Given the description of an element on the screen output the (x, y) to click on. 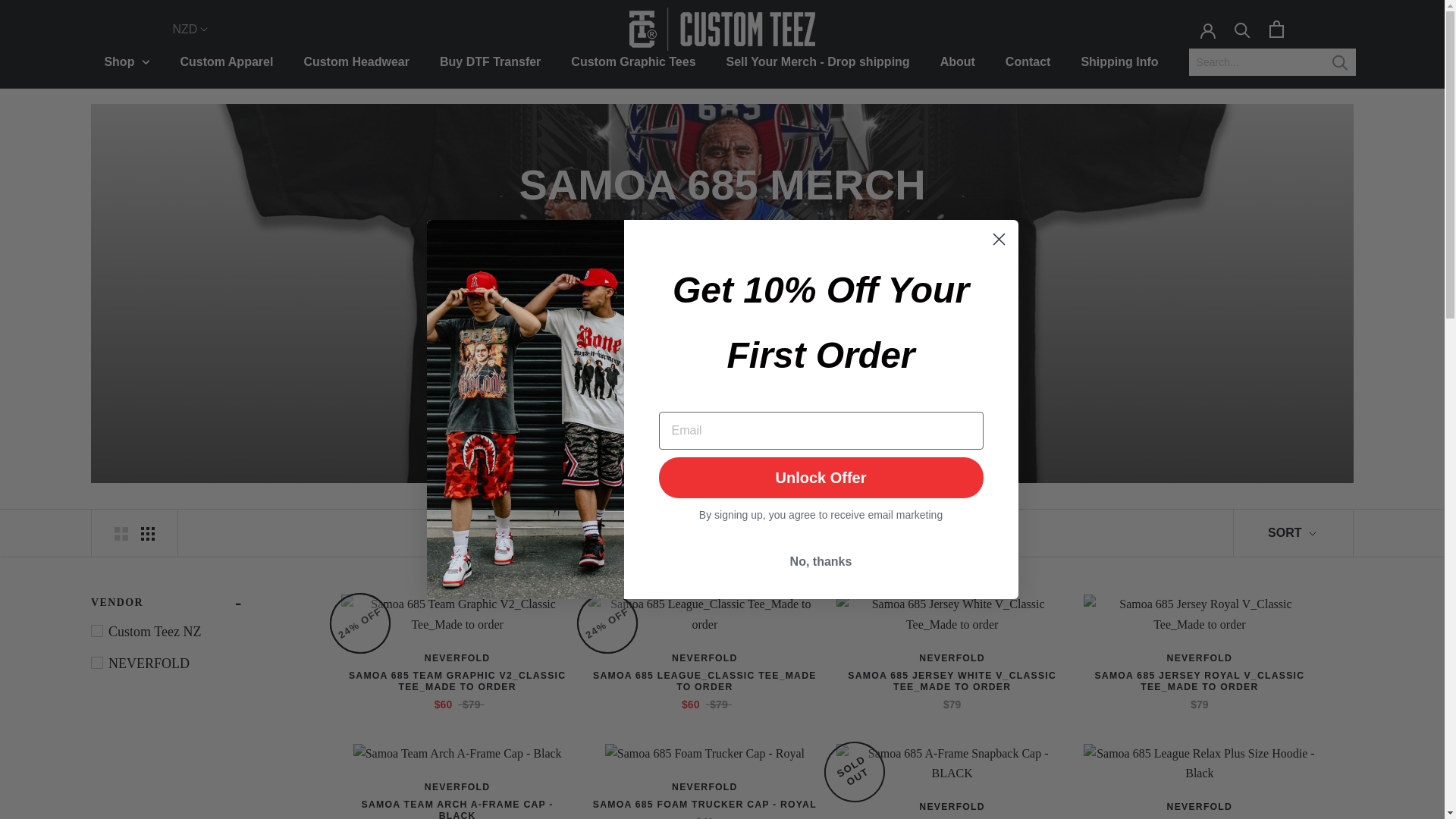
Currency selector (184, 28)
